Given the description of an element on the screen output the (x, y) to click on. 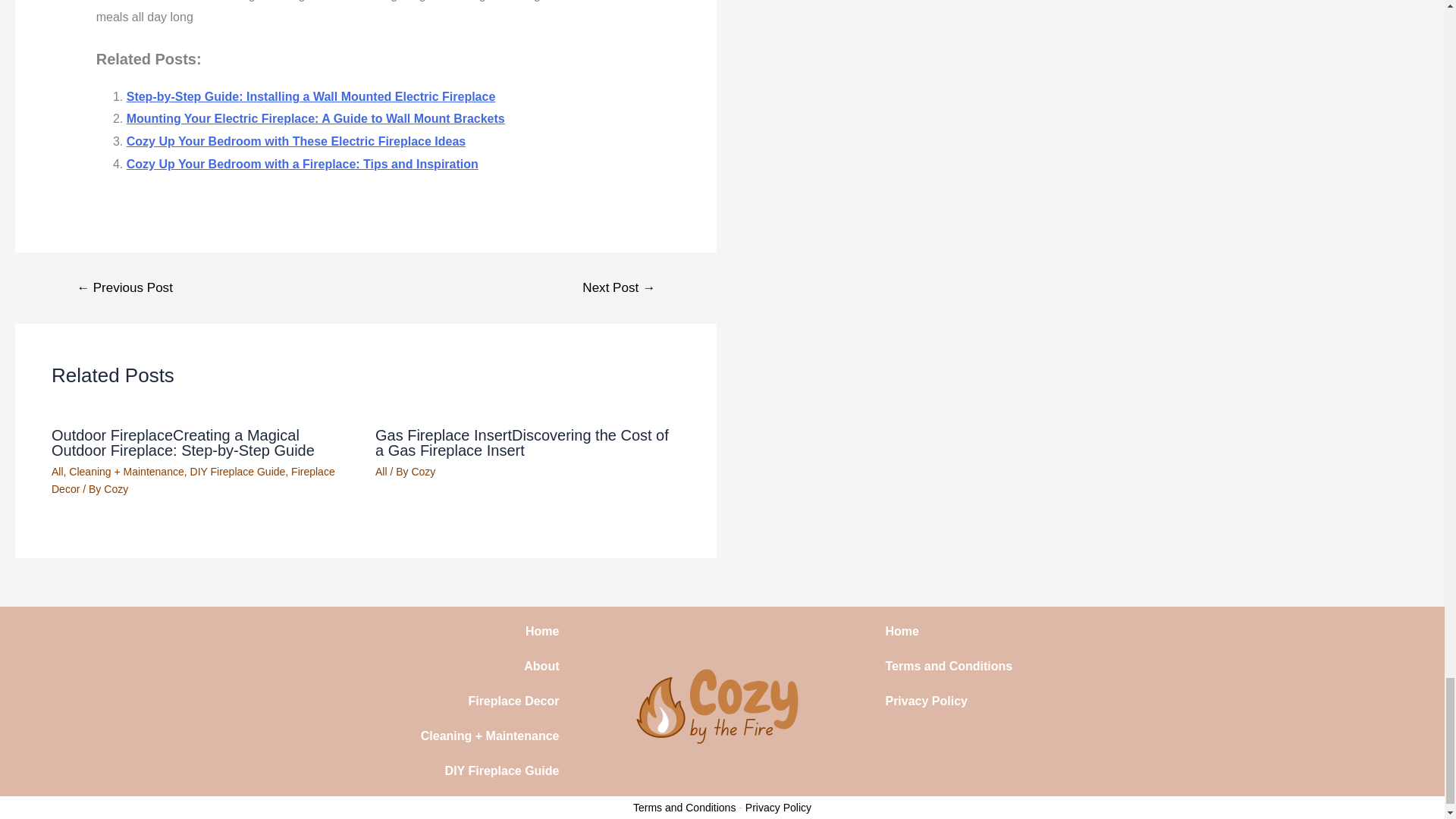
Cozy Up Your Bedroom with These Electric Fireplace Ideas (295, 141)
Cozy Up Your Bedroom with These Electric Fireplace Ideas (295, 141)
Cozy Up Your Bedroom with a Fireplace: Tips and Inspiration (302, 164)
View all posts by Cozy (422, 471)
Cozy Up Your Bedroom with a Fireplace: Tips and Inspiration (302, 164)
View all posts by Cozy (115, 489)
